Given the description of an element on the screen output the (x, y) to click on. 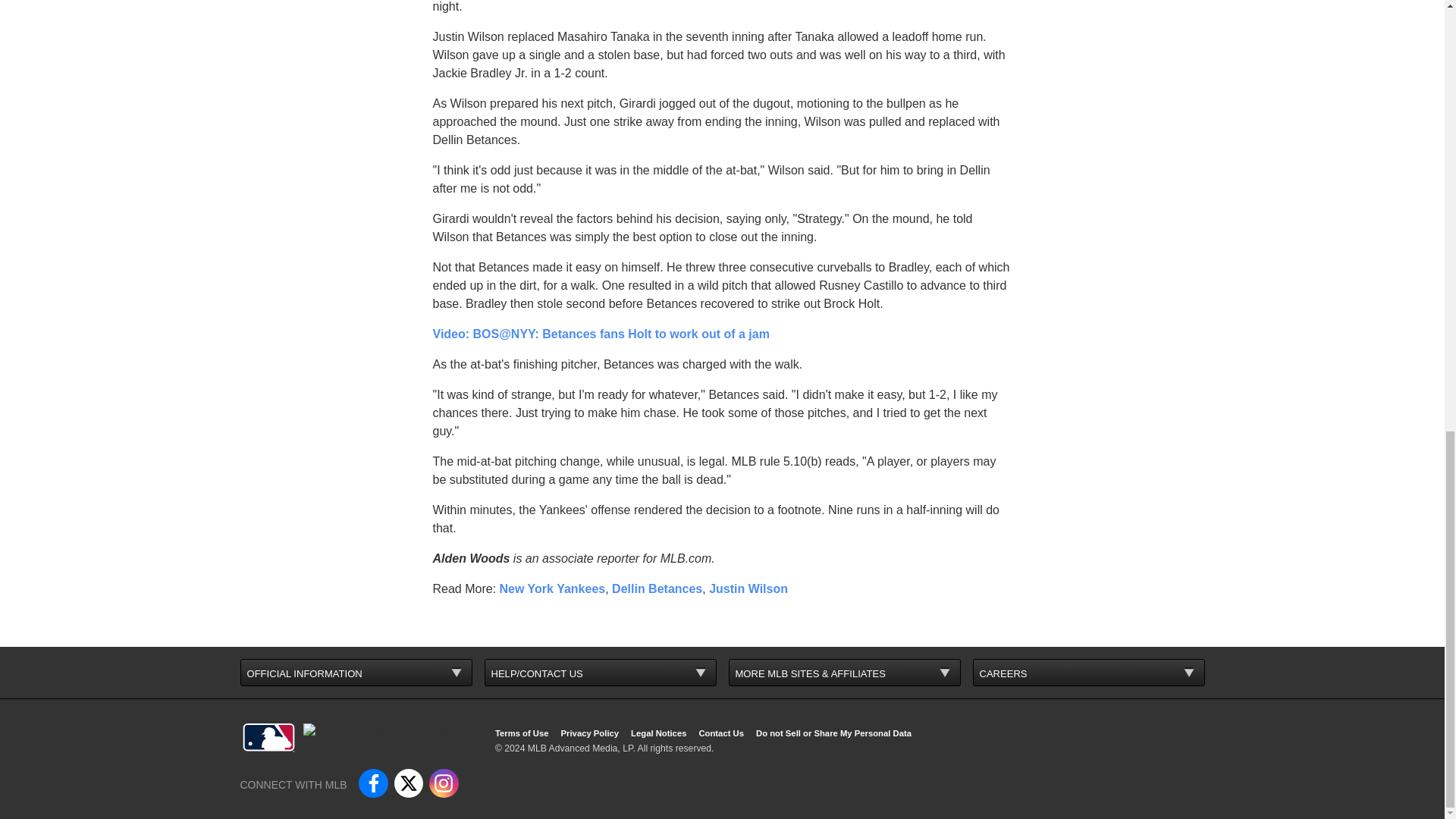
Follow on instagram (443, 783)
Follow on twitter (408, 783)
OFFICIAL INFORMATION (356, 673)
CAREERS (1089, 673)
Follow on facebook (372, 783)
